Given the description of an element on the screen output the (x, y) to click on. 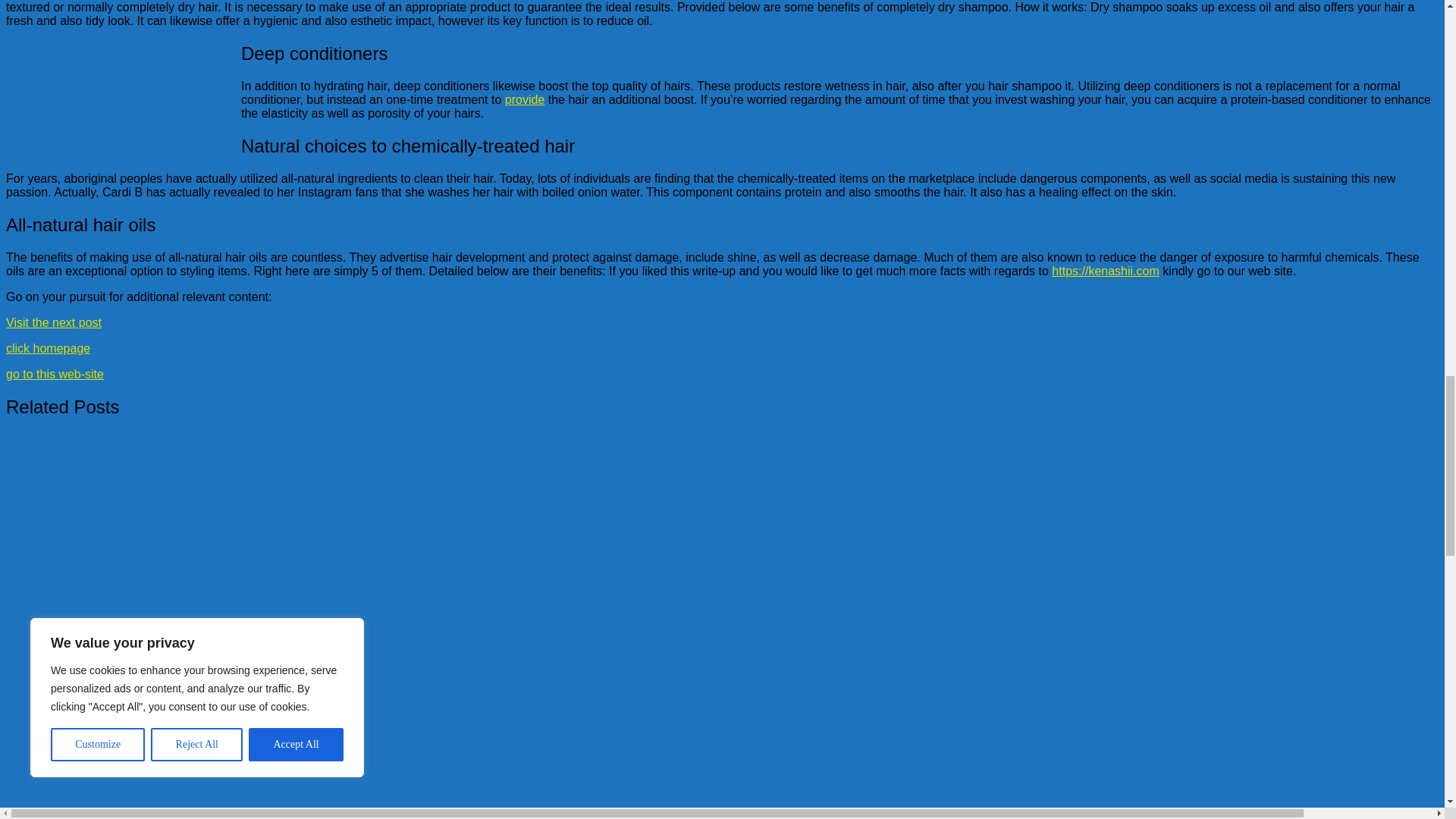
Visit the next post (53, 322)
go to this web-site (54, 373)
click homepage (47, 348)
provide (524, 99)
